Given the description of an element on the screen output the (x, y) to click on. 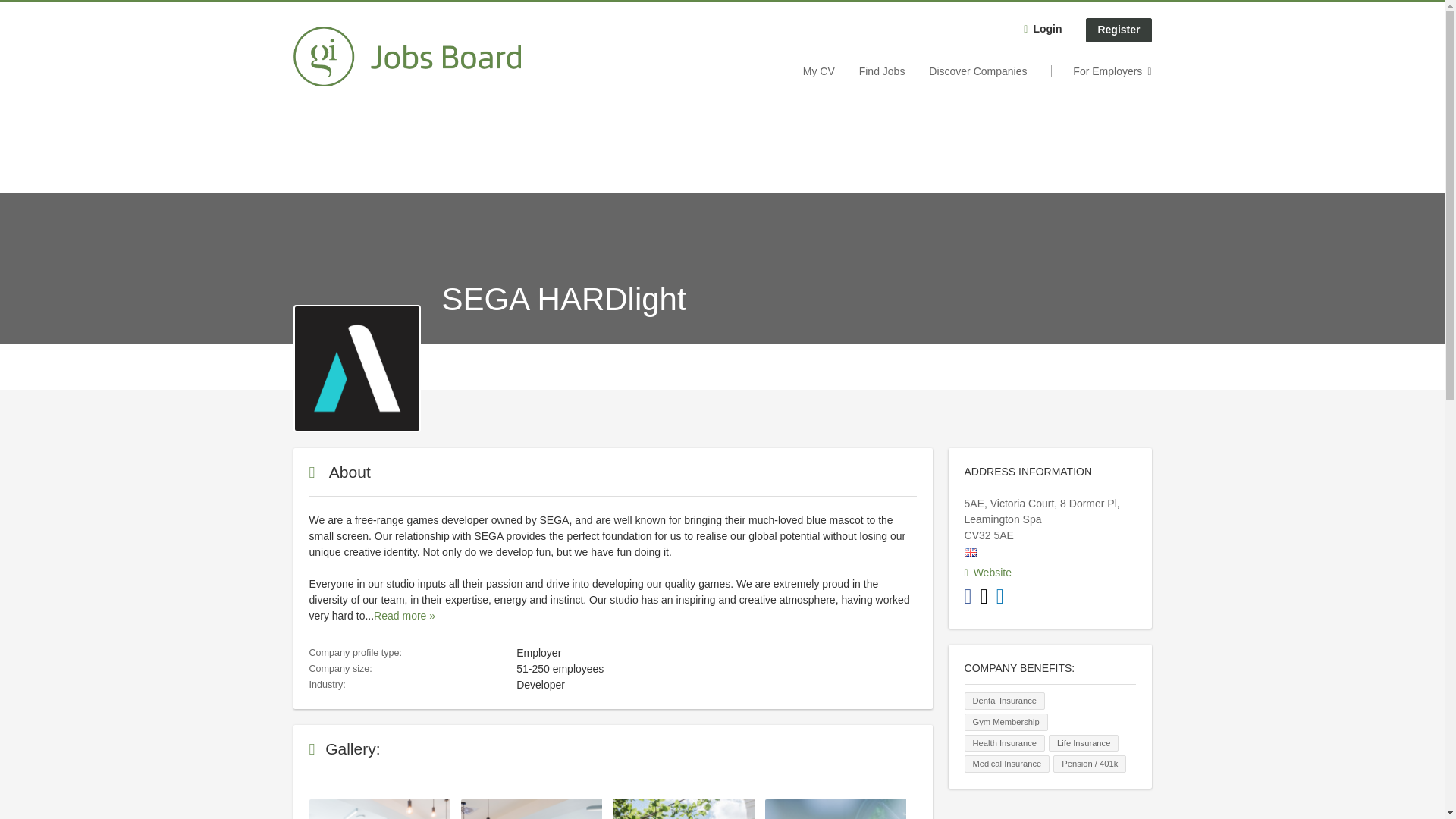
Register (1118, 30)
SEGA HARDlight (356, 368)
For Employers (1101, 70)
Website (987, 572)
Discover Companies (977, 70)
Find Jobs (882, 70)
GamesIndustry.biz (405, 55)
SEGA HARDlight (356, 367)
Login (1042, 30)
My CV (818, 70)
